Given the description of an element on the screen output the (x, y) to click on. 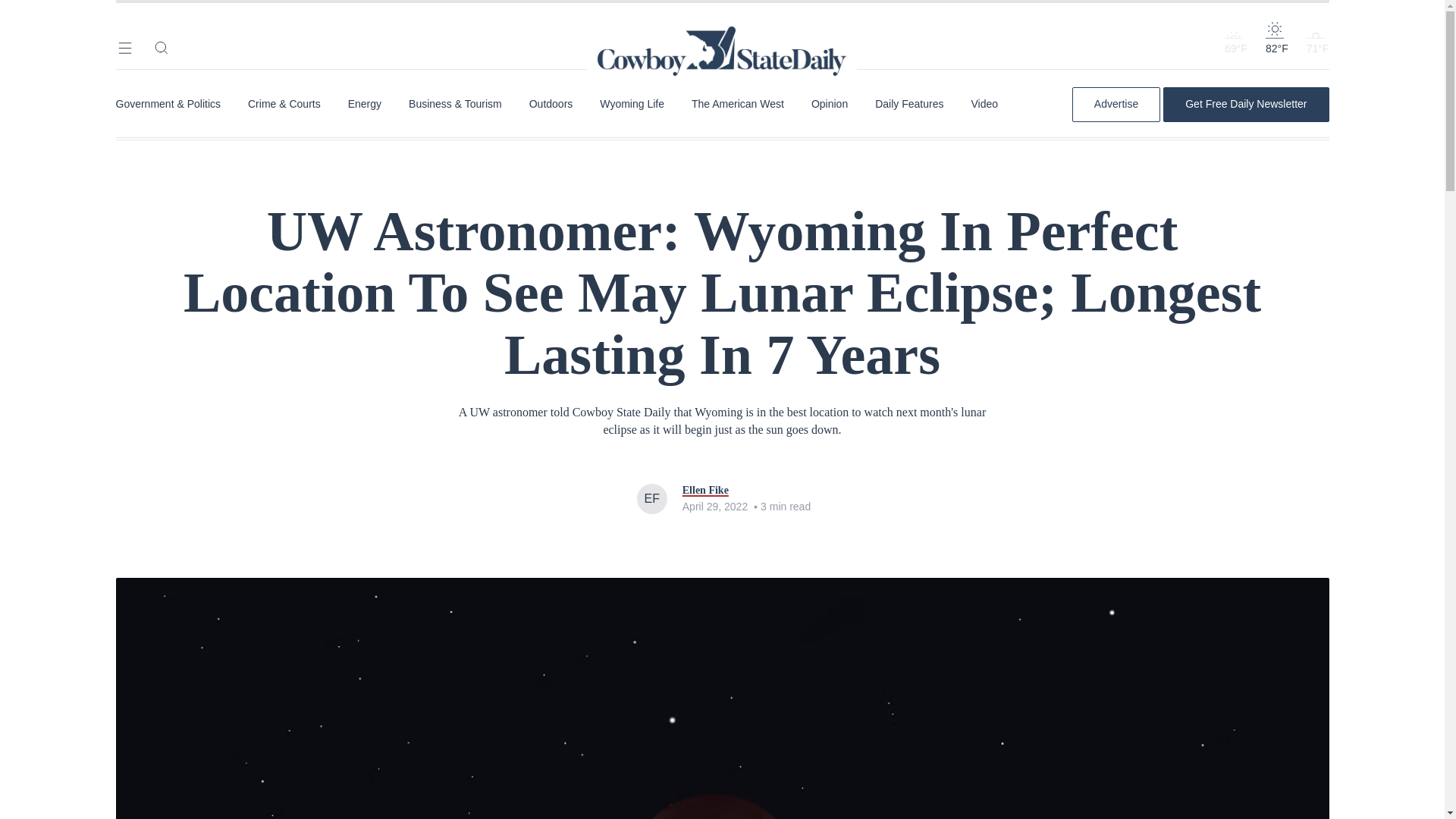
Get Free Daily Newsletter (1245, 104)
Daily Features (909, 104)
Wyoming Life (631, 104)
Search (160, 47)
The American West (737, 104)
Go to homepage (721, 30)
Advertise (1115, 104)
Menu (124, 47)
